Given the description of an element on the screen output the (x, y) to click on. 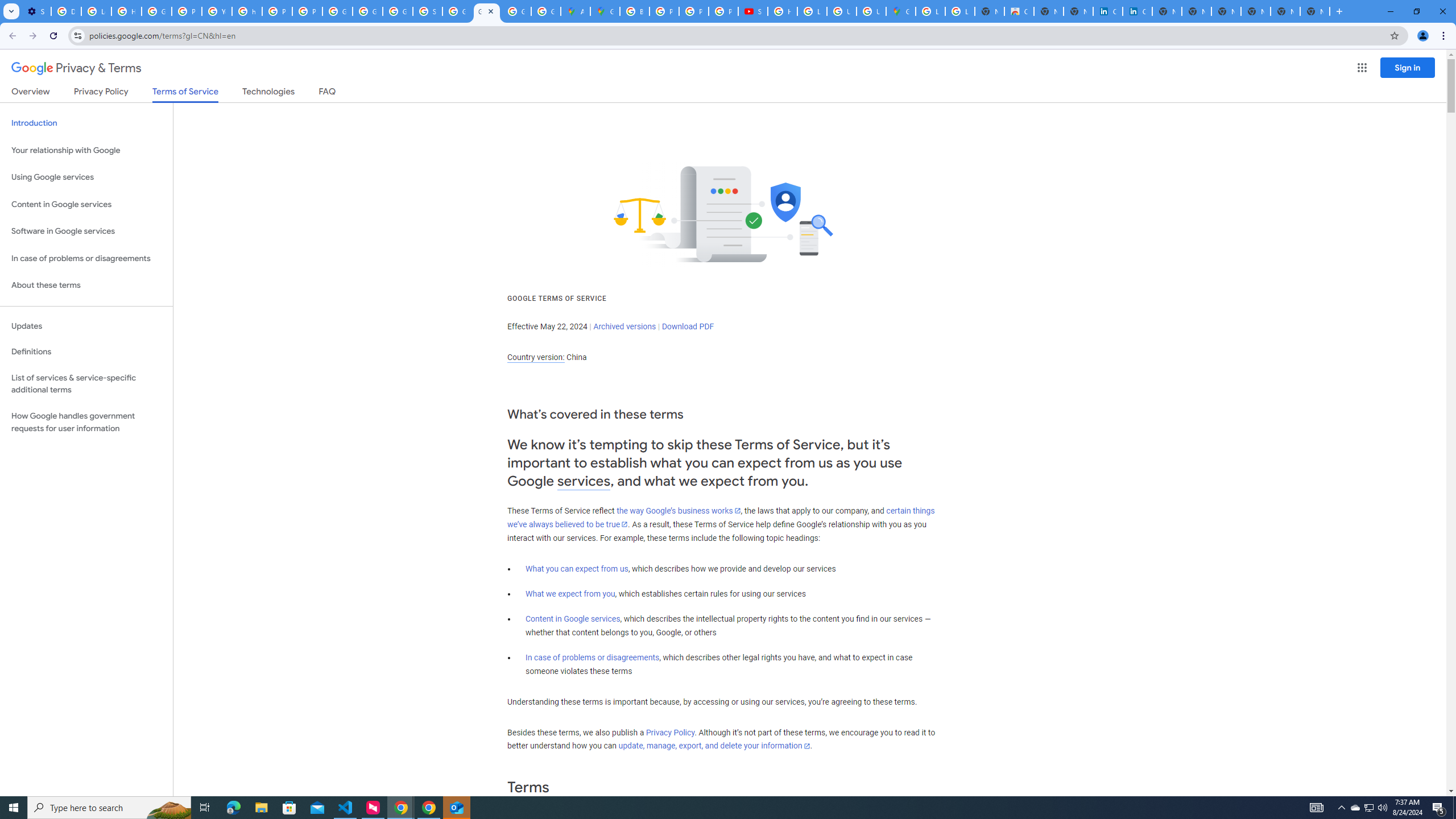
How Google handles government requests for user information (86, 422)
Download PDF (687, 326)
What we expect from you (570, 593)
Using Google services (86, 176)
FAQ (327, 93)
Learn how to find your photos - Google Photos Help (95, 11)
Privacy Help Center - Policies Help (664, 11)
Sign in - Google Accounts (426, 11)
Technologies (268, 93)
